Given the description of an element on the screen output the (x, y) to click on. 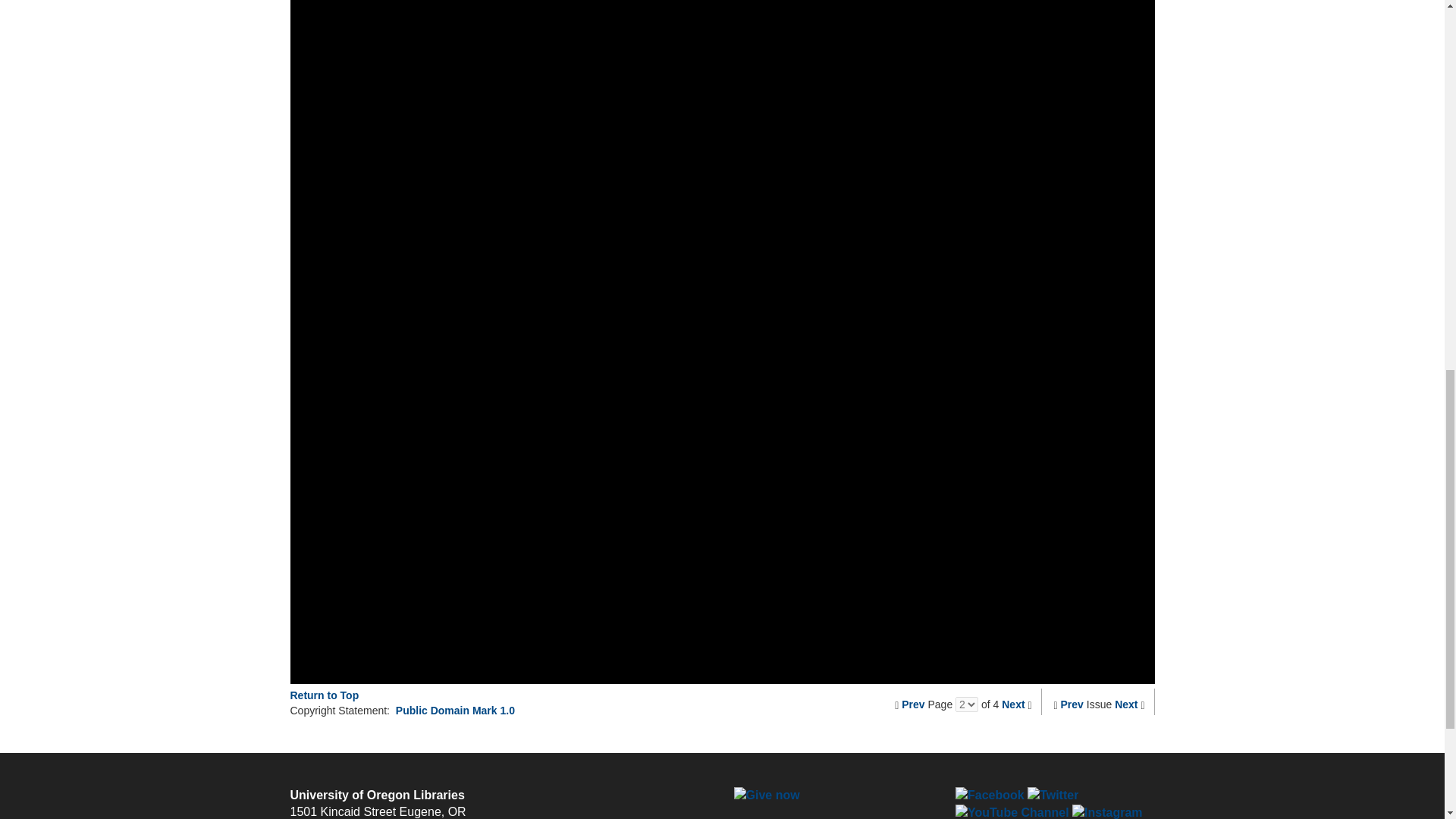
Prev (1072, 704)
Next (1126, 704)
Return to Top (323, 695)
Prev (912, 704)
Public Domain Mark 1.0 (455, 710)
Next (1013, 704)
